Given the description of an element on the screen output the (x, y) to click on. 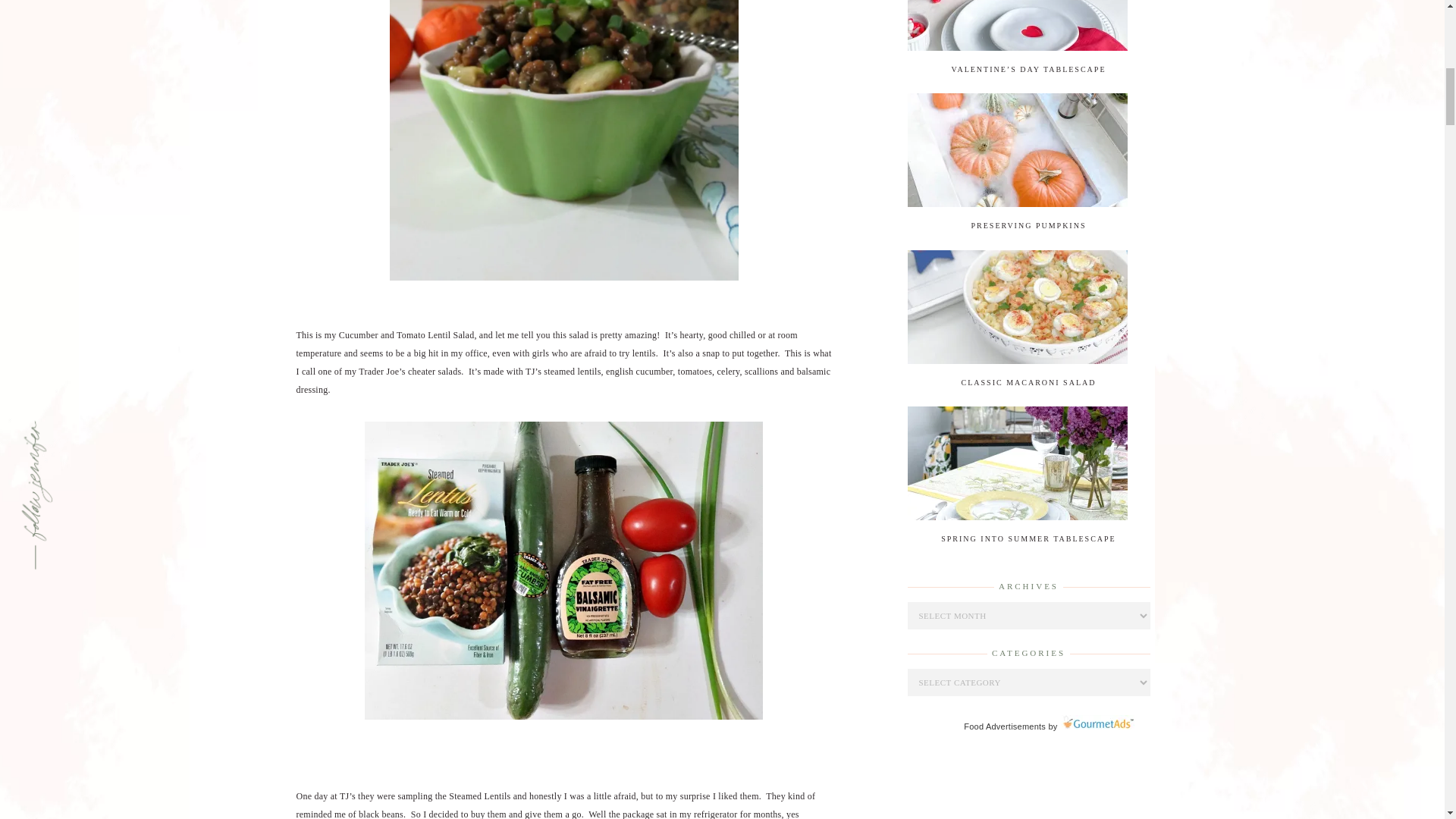
Spring into Summer Tablescape (1016, 516)
Preserving Pumpkins (1016, 204)
Classic Macaroni Salad (1016, 360)
